Given the description of an element on the screen output the (x, y) to click on. 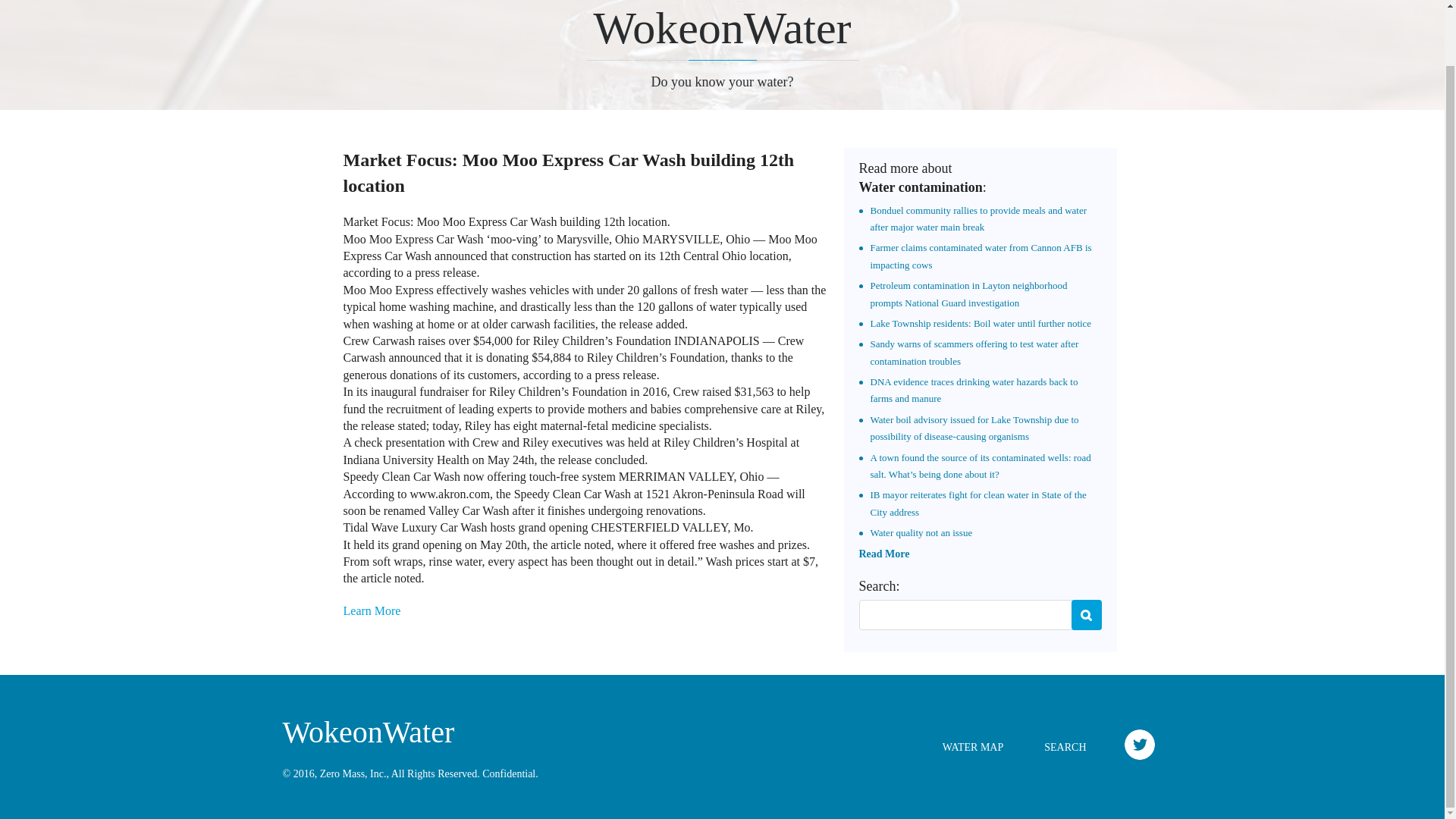
Search (1085, 614)
Learn More (371, 610)
SEARCH (1065, 747)
Lake Township residents: Boil water until further notice (981, 323)
WATER MAP (973, 747)
